Given the description of an element on the screen output the (x, y) to click on. 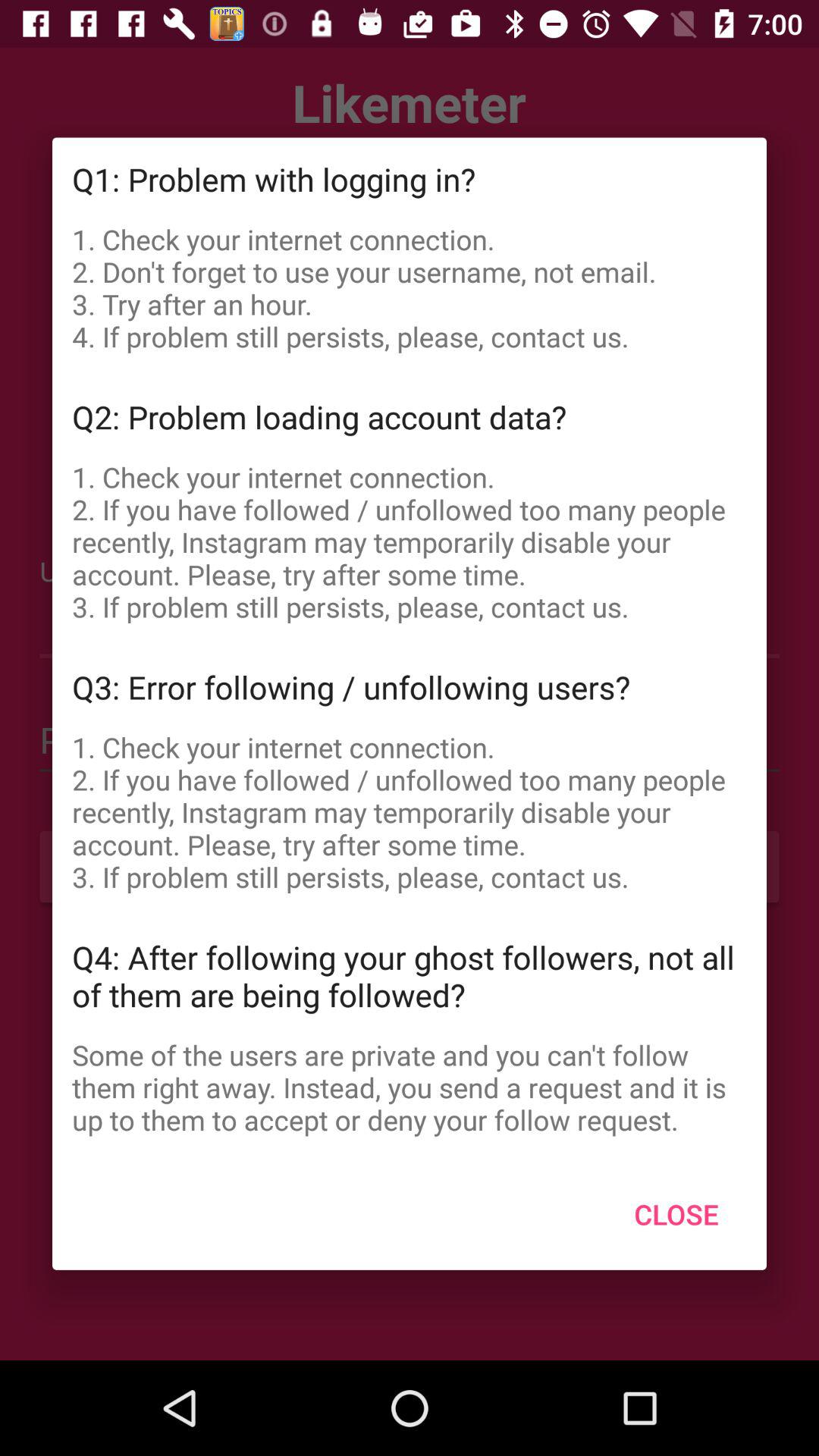
turn on close at the bottom right corner (676, 1214)
